Given the description of an element on the screen output the (x, y) to click on. 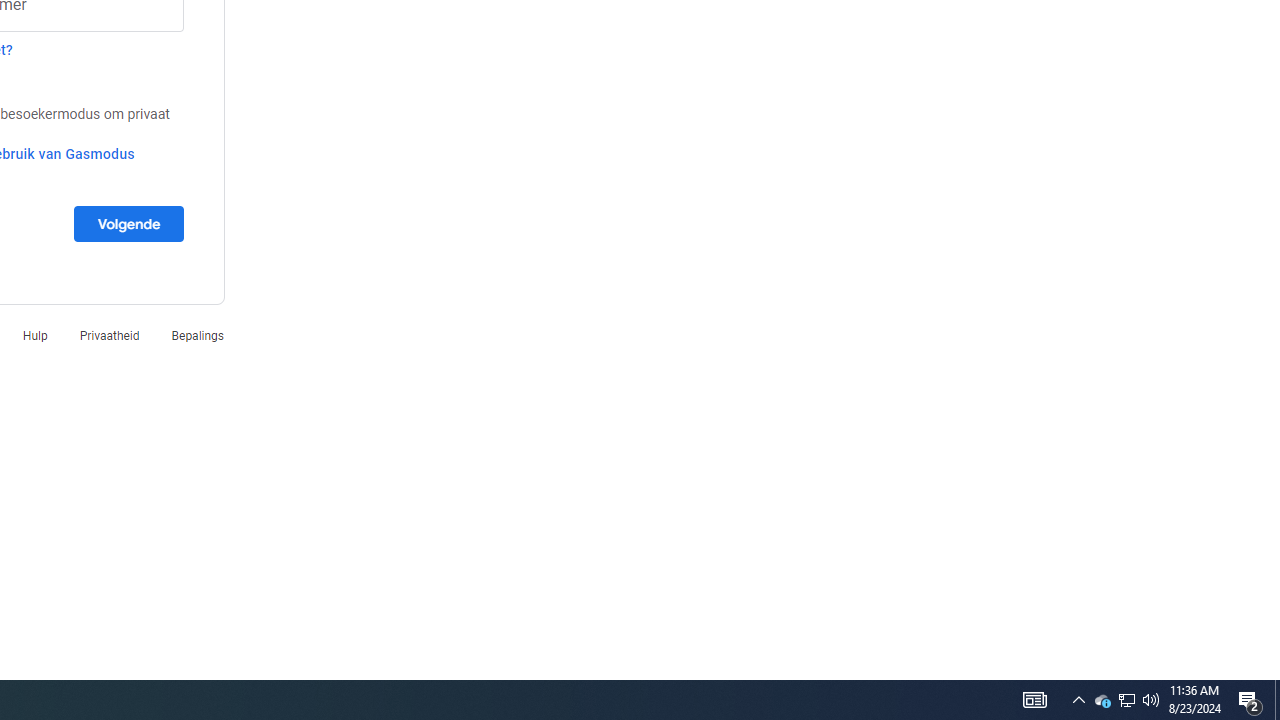
Notification Chevron (1078, 699)
AutomationID: 4105 (1034, 699)
Action Center, 2 new notifications (1250, 699)
Volgende (1102, 699)
Bepalings (128, 223)
Hulp (197, 335)
User Promoted Notification Area (1126, 699)
Q2790: 100% (35, 335)
Show desktop (1126, 699)
Privaatheid (1151, 699)
